Given the description of an element on the screen output the (x, y) to click on. 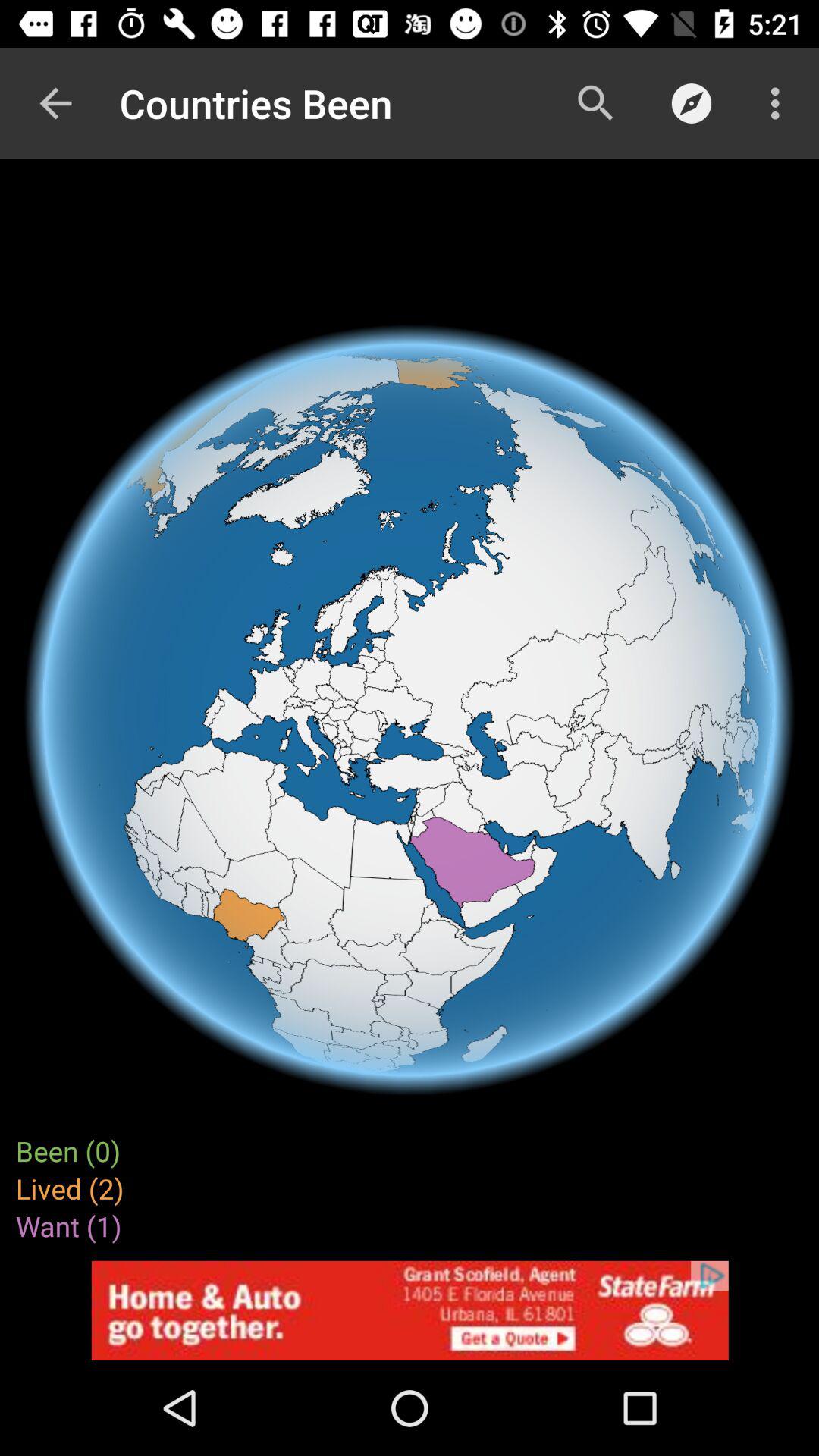
open an advertisements (409, 1310)
